Given the description of an element on the screen output the (x, y) to click on. 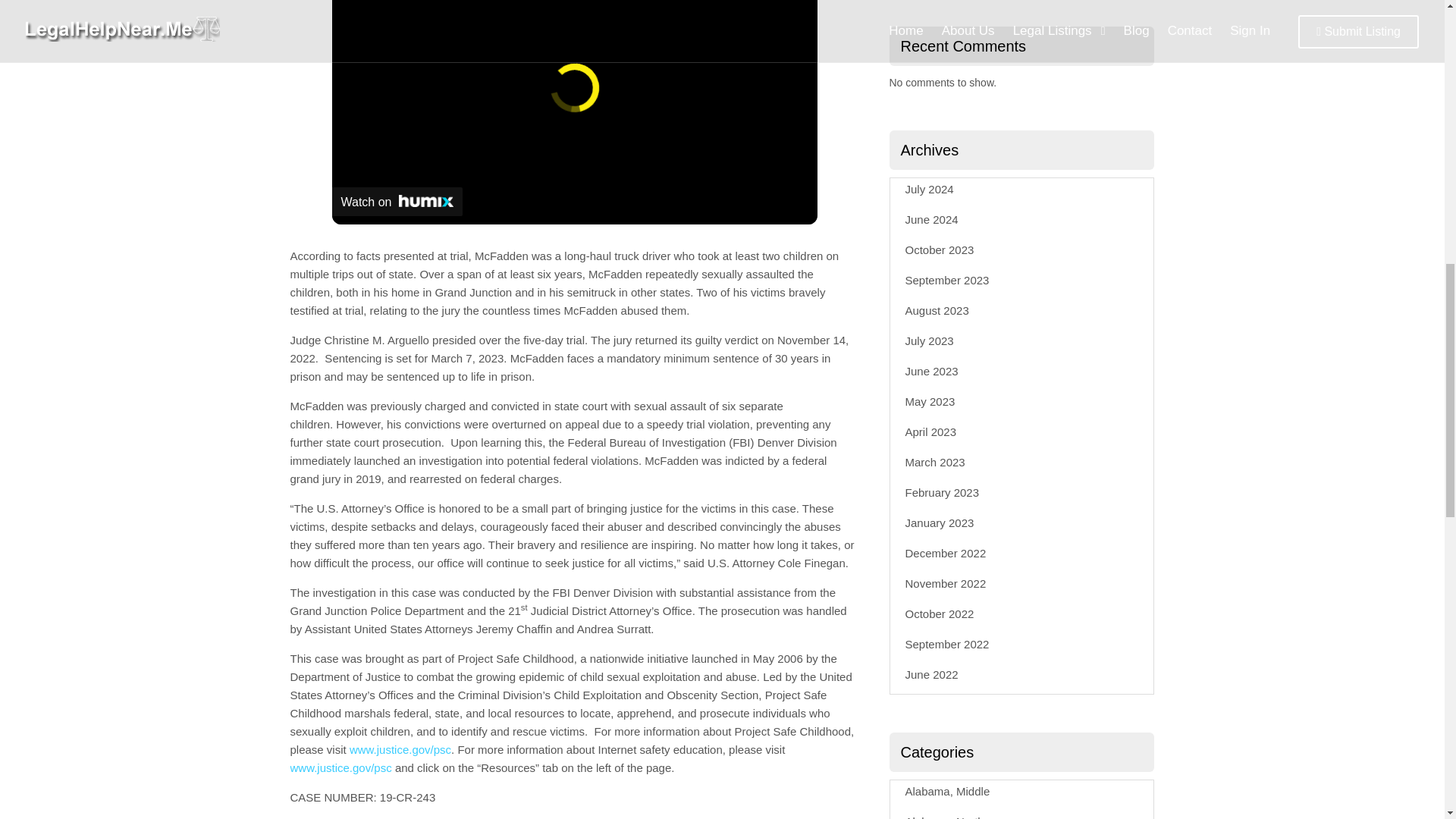
October 2023 (939, 249)
July 2023 (929, 340)
May 2023 (930, 400)
June 2024 (931, 219)
June 2023 (931, 370)
April 2023 (930, 431)
Watch on (397, 201)
February 2023 (942, 492)
September 2023 (947, 279)
July 2024 (929, 188)
March 2023 (935, 461)
August 2023 (937, 309)
